Given the description of an element on the screen output the (x, y) to click on. 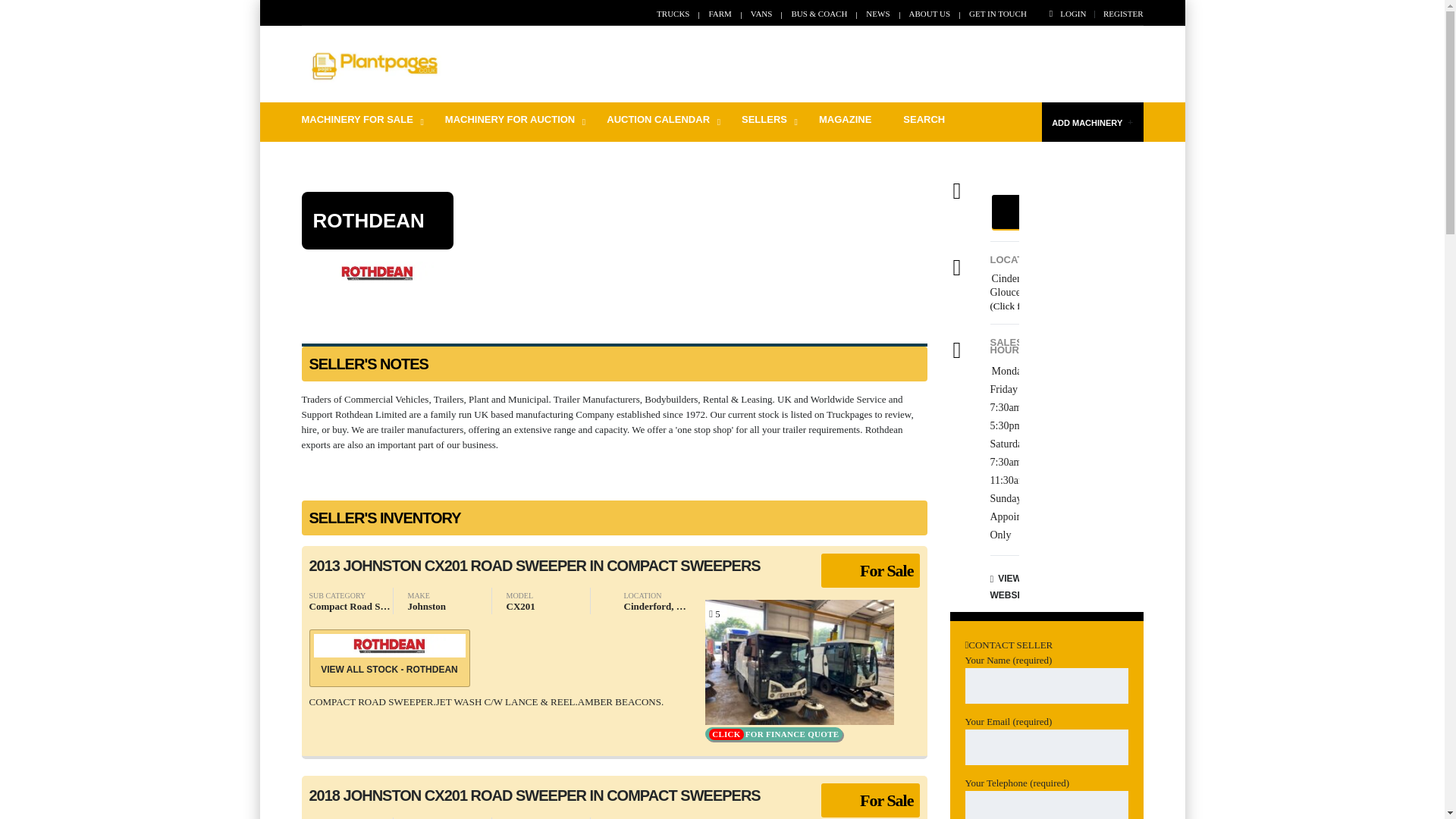
REGISTER (1122, 13)
LOGIN (1067, 13)
ABOUT US (929, 13)
VANS (762, 13)
Home (373, 64)
TRUCKS (672, 13)
NEWS (877, 13)
GET IN TOUCH (997, 13)
FARM (718, 13)
